Given the description of an element on the screen output the (x, y) to click on. 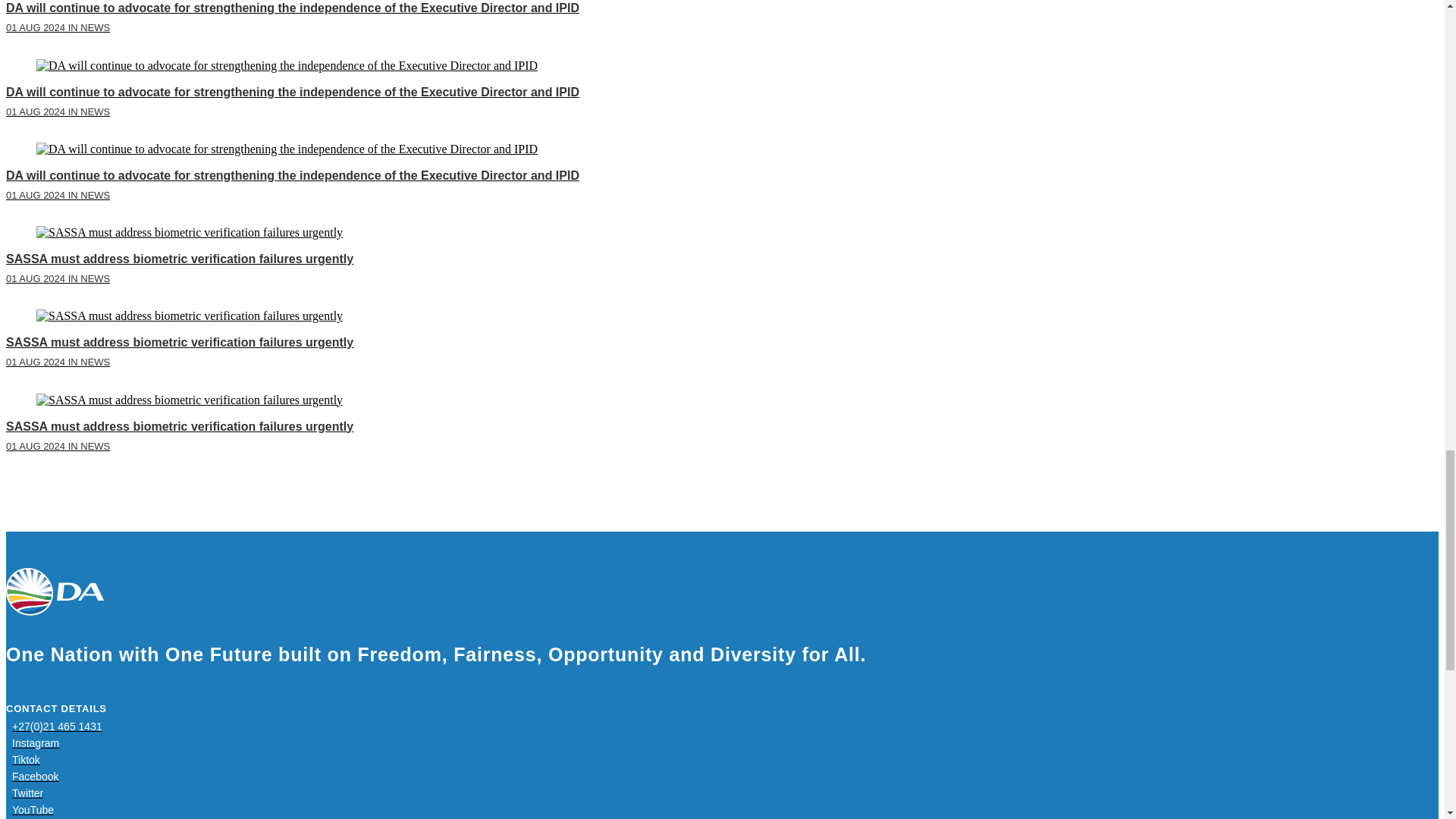
Democratic Alliance Logo (54, 591)
